Given the description of an element on the screen output the (x, y) to click on. 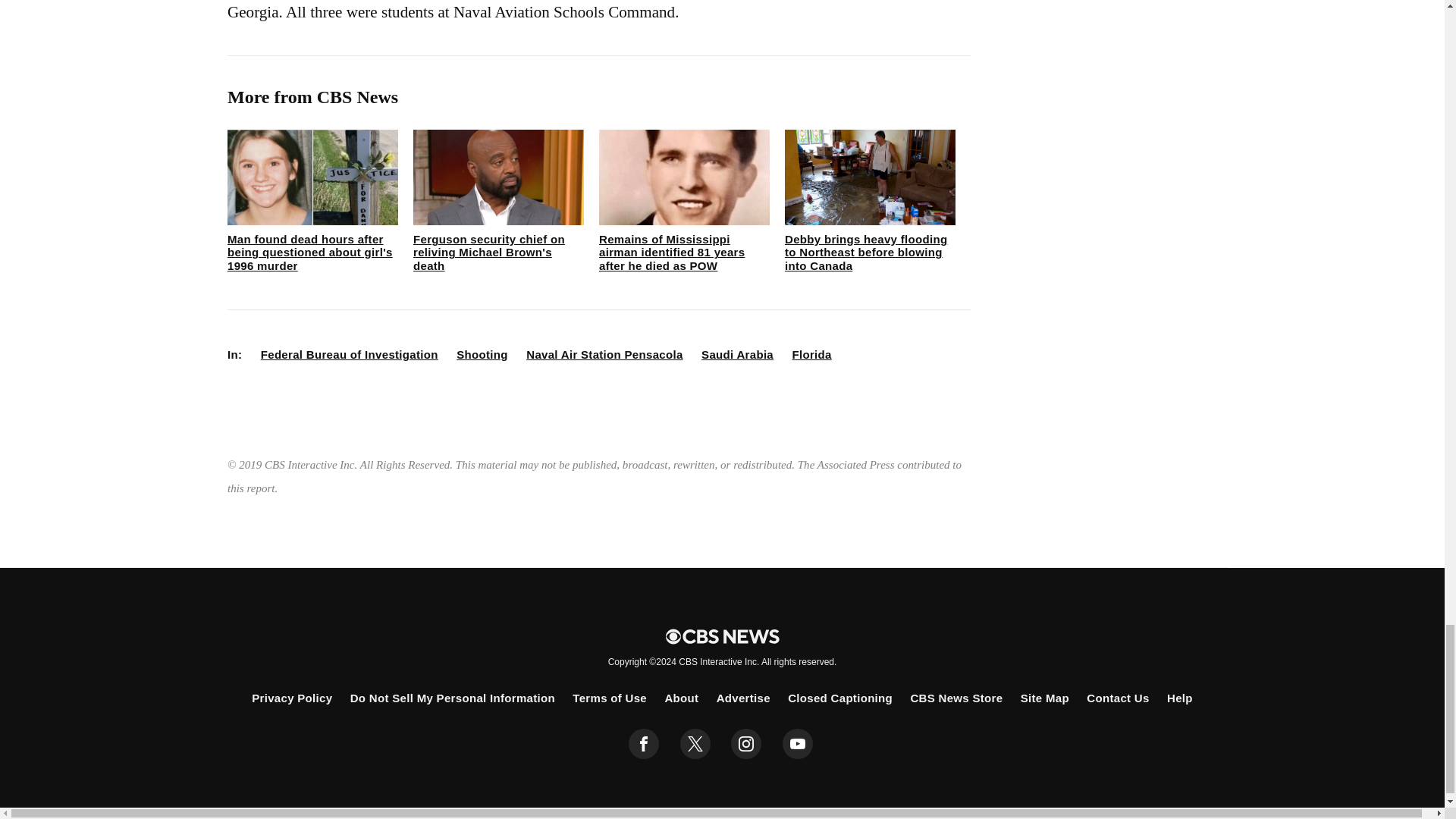
facebook (643, 743)
twitter (694, 743)
youtube (797, 743)
instagram (745, 743)
